Given the description of an element on the screen output the (x, y) to click on. 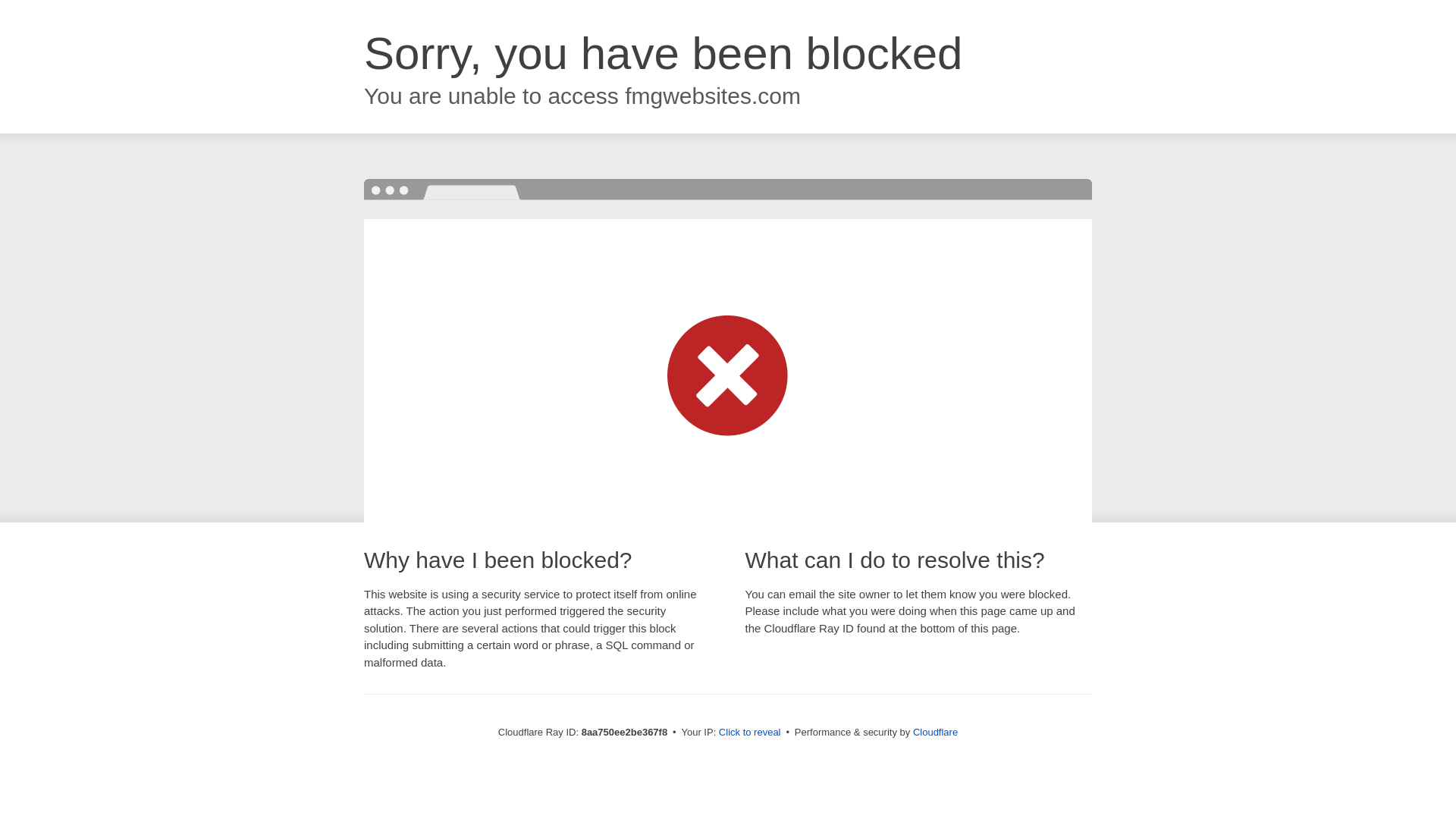
Cloudflare (935, 731)
Click to reveal (749, 732)
